Given the description of an element on the screen output the (x, y) to click on. 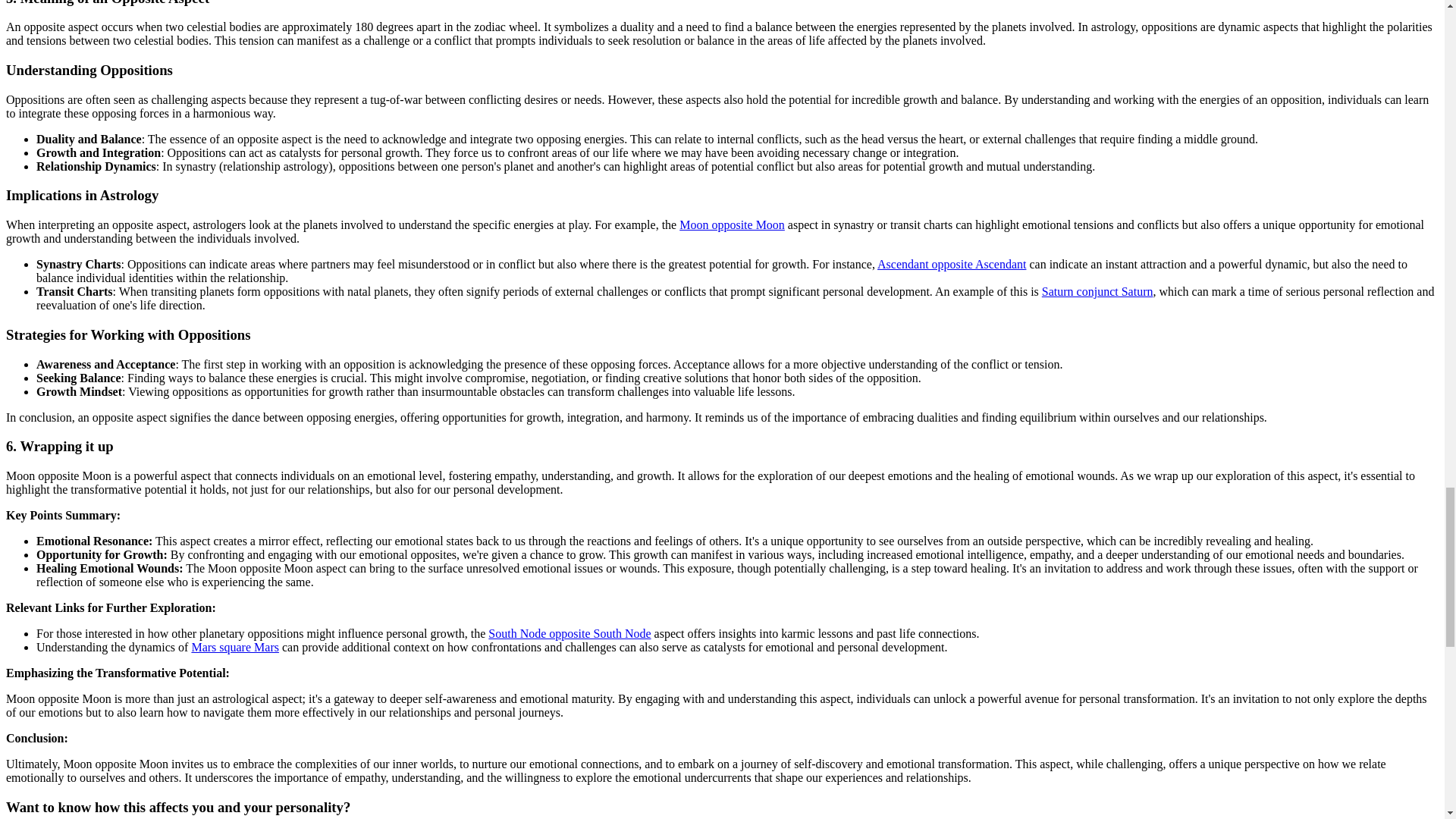
Moon opposite Moon (731, 224)
Mars square Mars (234, 646)
South Node opposite South Node (568, 633)
Saturn conjunct Saturn (1097, 291)
Ascendant opposite Ascendant (951, 264)
